Given the description of an element on the screen output the (x, y) to click on. 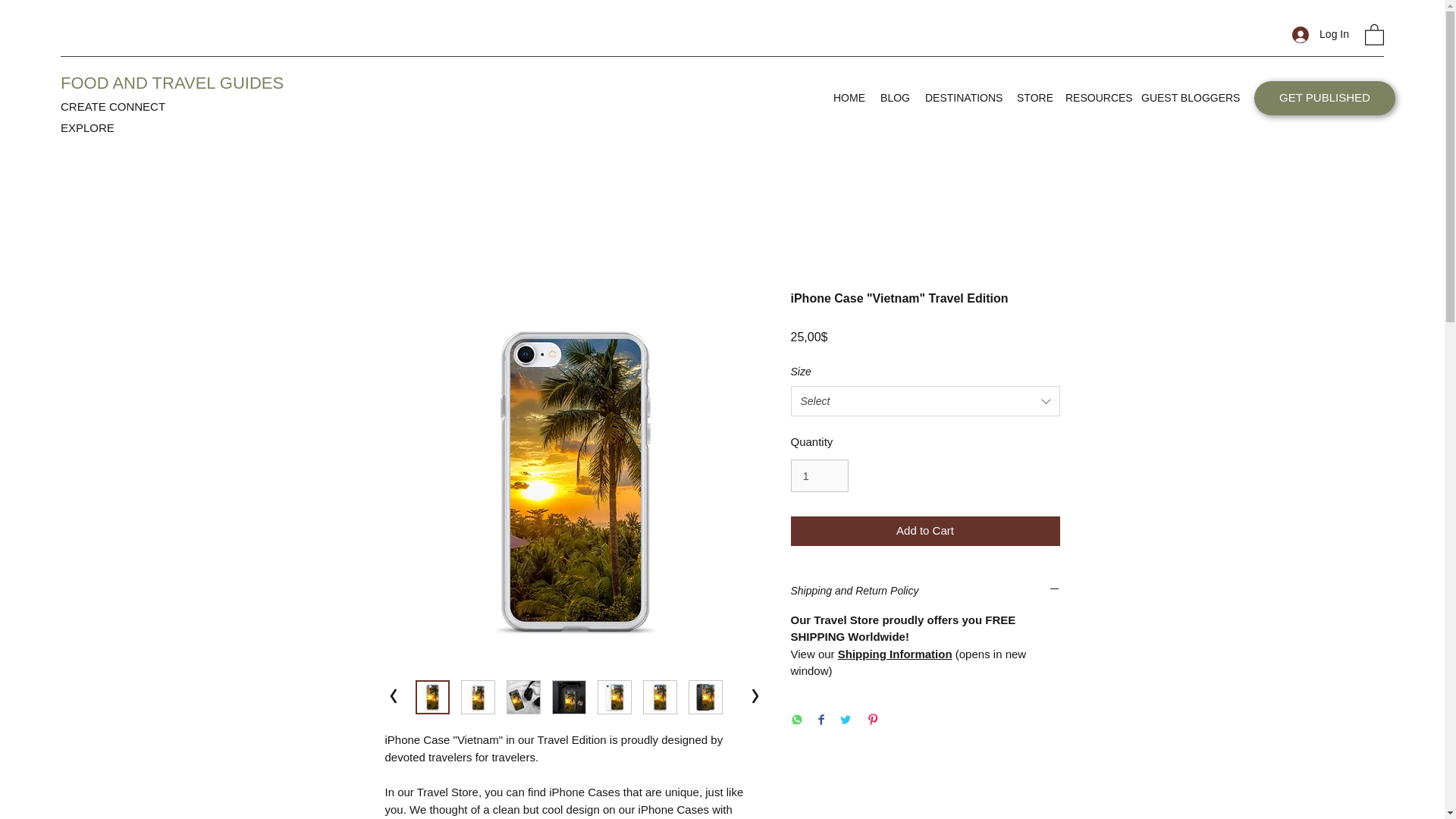
BLOG (894, 97)
STORE (1033, 97)
RESOURCES (1096, 97)
Log In (1320, 34)
1 (818, 476)
GET PUBLISHED (1323, 98)
HOME (848, 97)
DESTINATIONS (963, 97)
GUEST BLOGGERS (1187, 97)
